Given the description of an element on the screen output the (x, y) to click on. 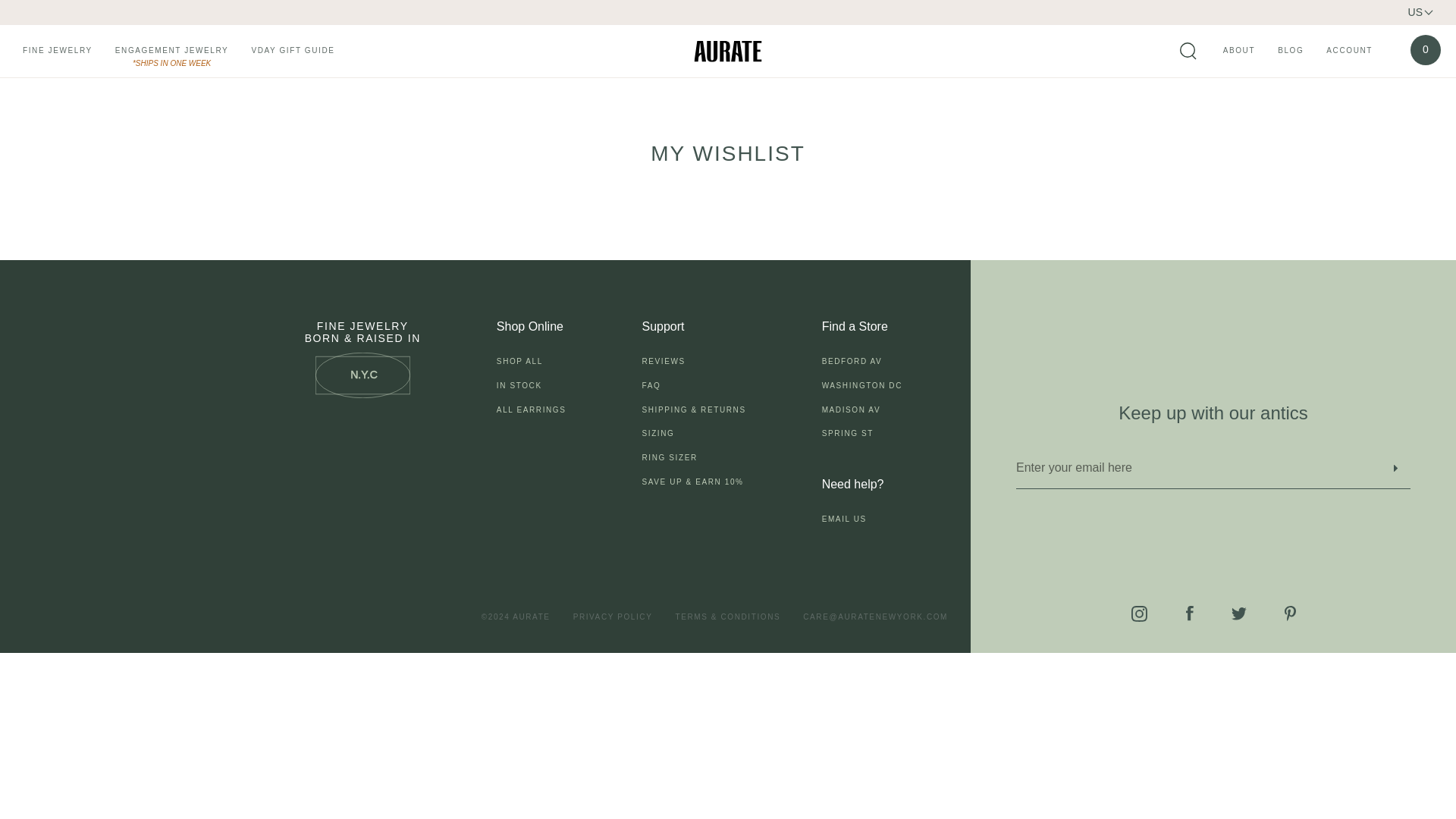
ENGAGEMENT JEWELRY (171, 51)
FINE JEWELRY (58, 51)
ABOUT (1239, 52)
N.Y.C (362, 374)
BLOG (1290, 52)
Aurate Twitter (1238, 612)
Home (44, 115)
Home (727, 51)
VDAY GIFT GUIDE (292, 51)
0 (1425, 50)
ACCOUNT (1349, 52)
US (1419, 12)
Home (727, 51)
Aurate Instagram (1139, 613)
